Given the description of an element on the screen output the (x, y) to click on. 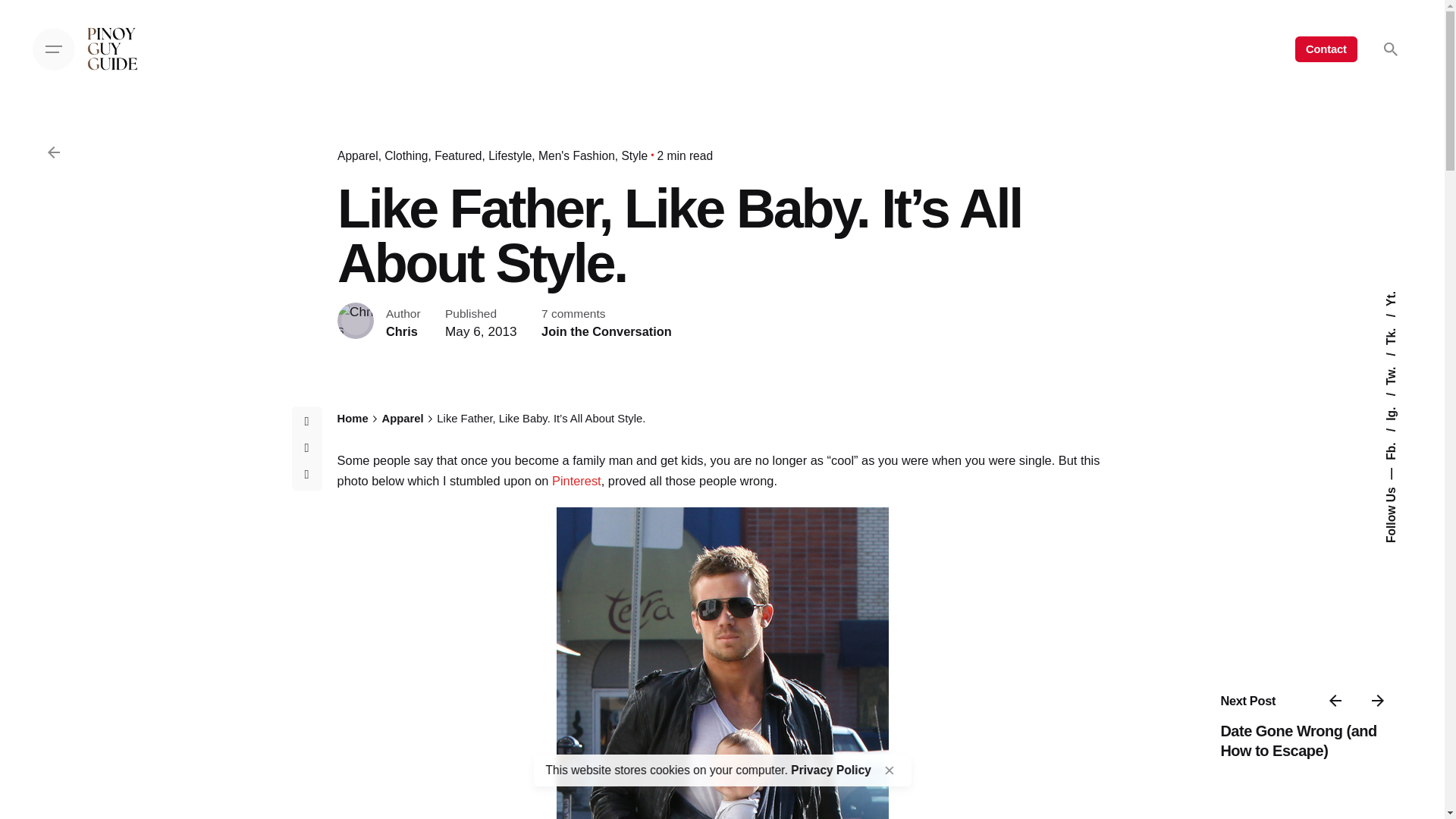
Fb. (1399, 434)
Tw. (1400, 358)
Tk. (1399, 319)
Ig. (1398, 399)
Yt. (1391, 297)
Contact (1325, 49)
